Given the description of an element on the screen output the (x, y) to click on. 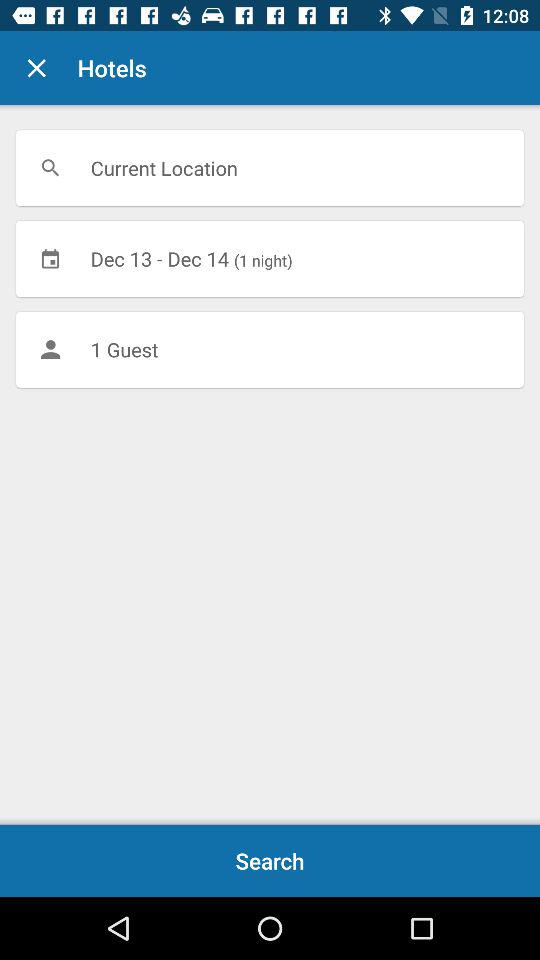
turn on icon below current location icon (269, 258)
